Given the description of an element on the screen output the (x, y) to click on. 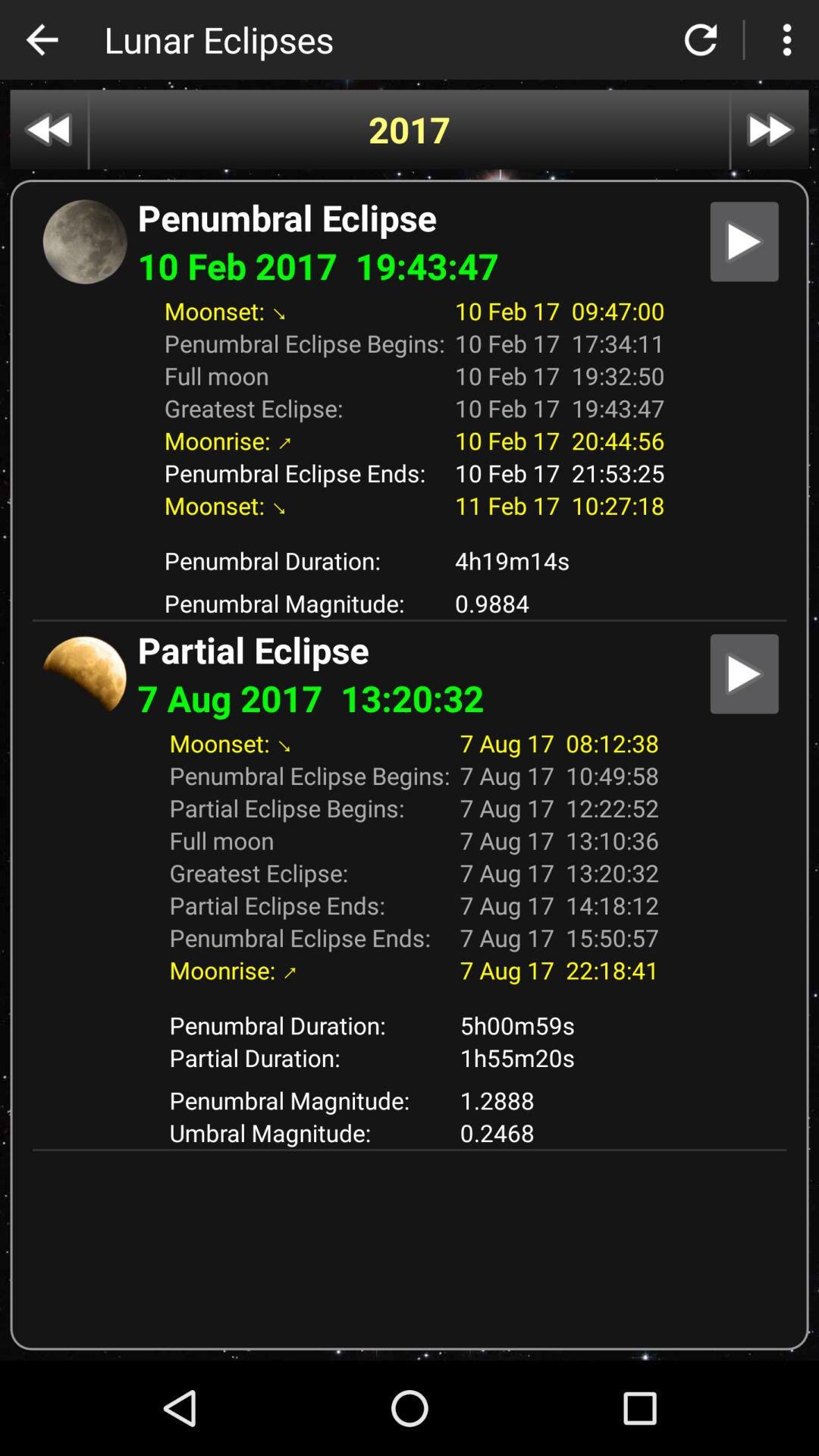
swipe to the 1.2888 item (559, 1100)
